Given the description of an element on the screen output the (x, y) to click on. 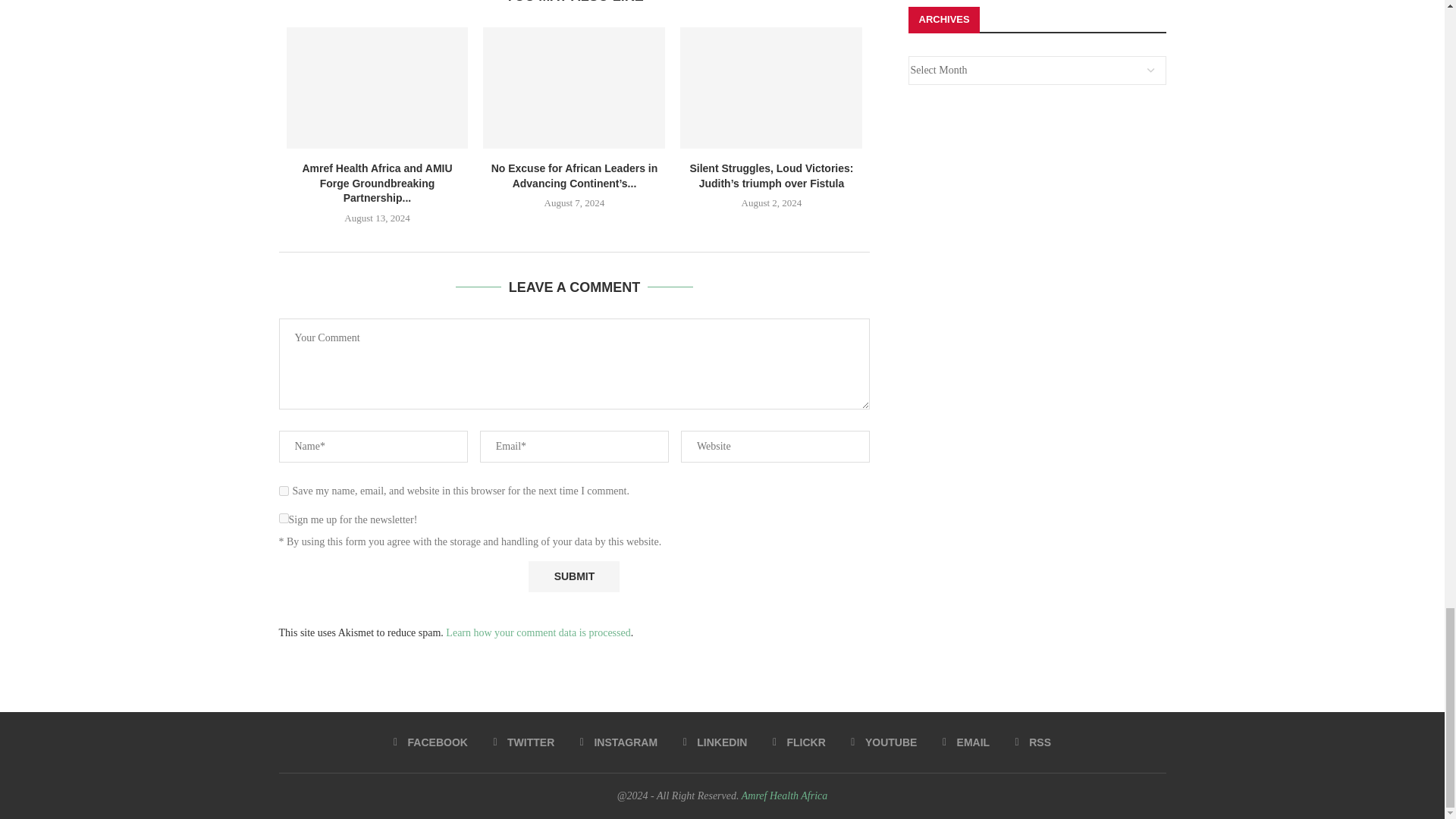
Submit (574, 576)
1 (283, 518)
yes (283, 491)
